Given the description of an element on the screen output the (x, y) to click on. 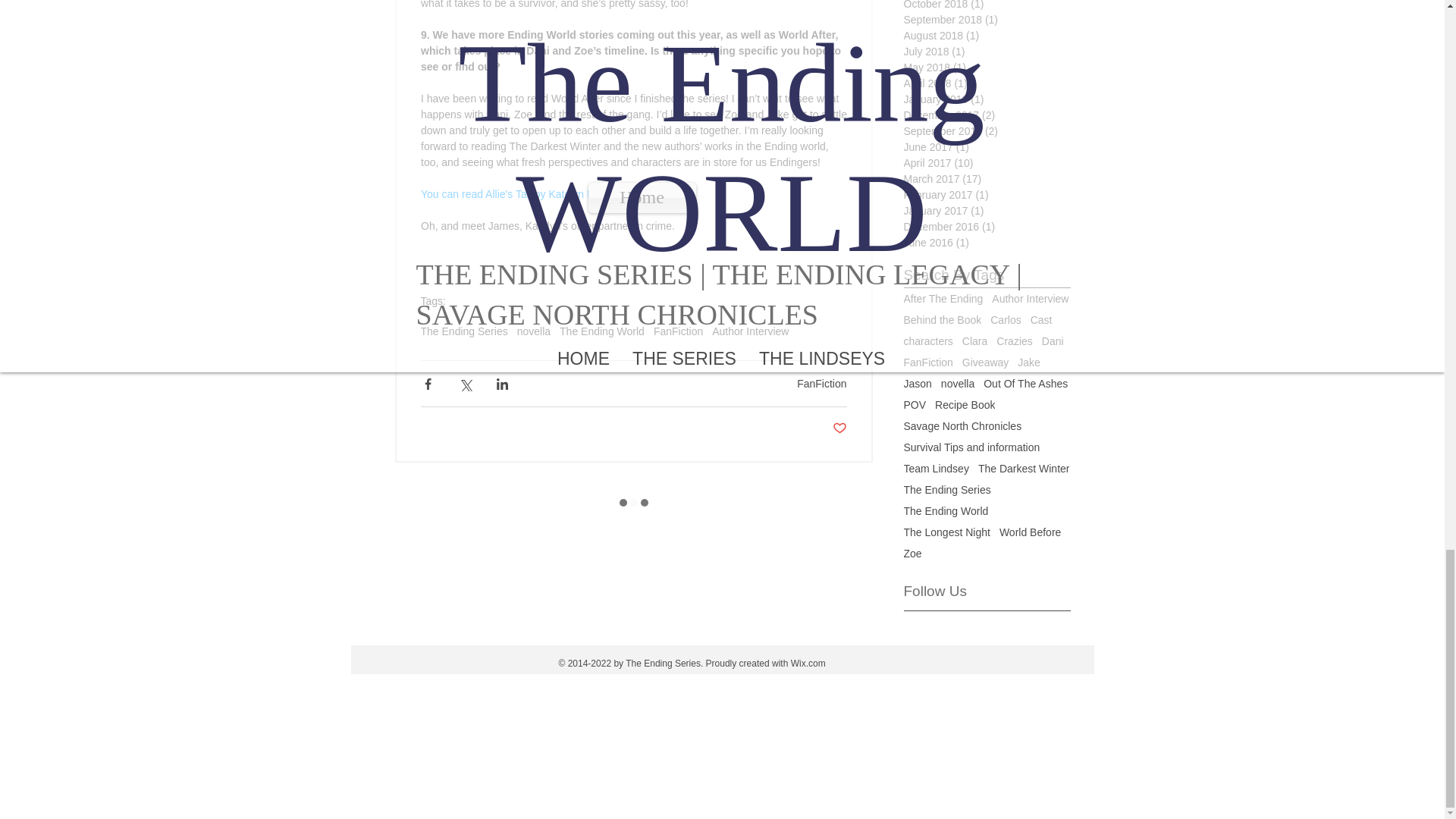
Author Interview (750, 331)
The Ending World (602, 331)
You can read Allie's Tail by Katelyn Bobbitt HERE (535, 193)
The Ending Series (463, 331)
FanFiction (678, 331)
Home (641, 197)
novella (533, 331)
FanFiction (820, 383)
Post not marked as liked (839, 428)
